Given the description of an element on the screen output the (x, y) to click on. 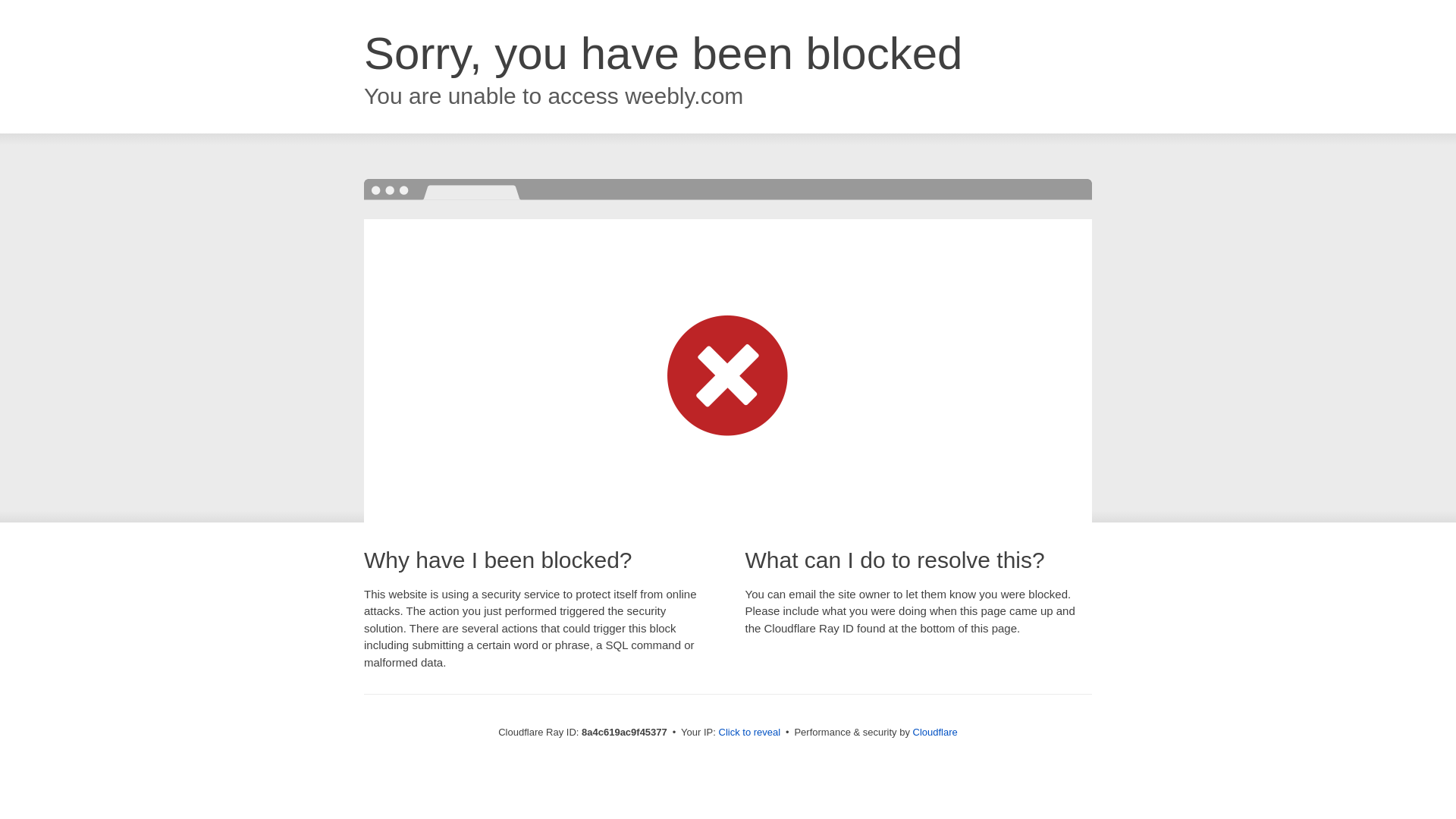
Click to reveal (749, 732)
Cloudflare (935, 731)
